Given the description of an element on the screen output the (x, y) to click on. 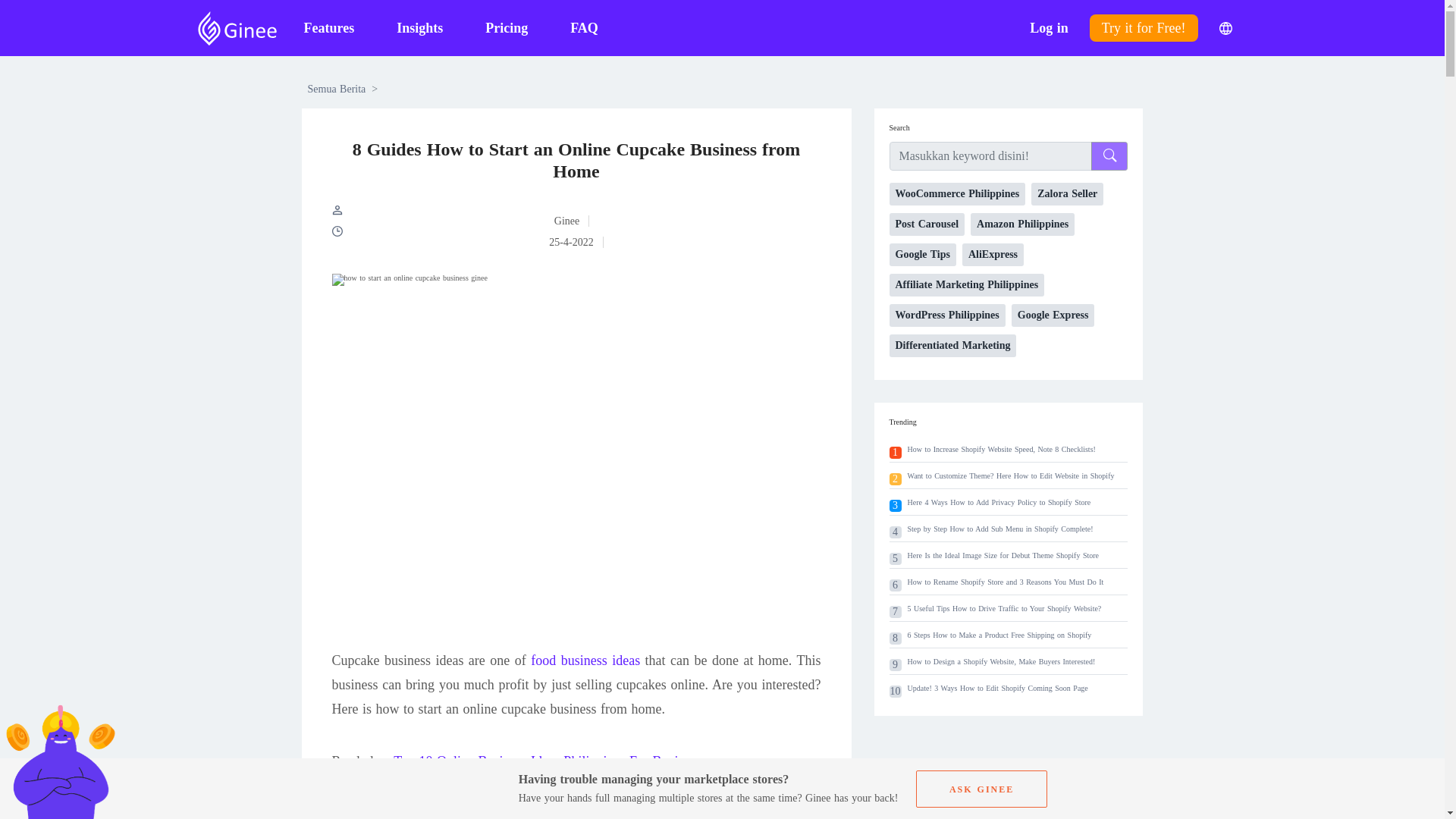
food business ideas (585, 660)
How to Rename Shopify Store and 3 Reasons You Must Do It (1005, 582)
Affiliate Marketing Philippines (965, 284)
Here 4 Ways How to Add Privacy Policy to Shopify Store (998, 501)
WordPress Philippines (946, 314)
Post Carousel (925, 223)
Differentiated Marketing (952, 345)
Google Express (1052, 314)
Step by Step How to Add Sub Menu in Shopify Complete!  (1001, 528)
WooCommerce Philippines (956, 193)
5 Useful Tips How to Drive Traffic to Your Shopify Website? (1003, 608)
Semua Berita (336, 89)
Want to Customize Theme? Here How to Edit Website in Shopify (1010, 475)
How to Increase Shopify Website Speed, Note 8 Checklists! (1000, 449)
